Given the description of an element on the screen output the (x, y) to click on. 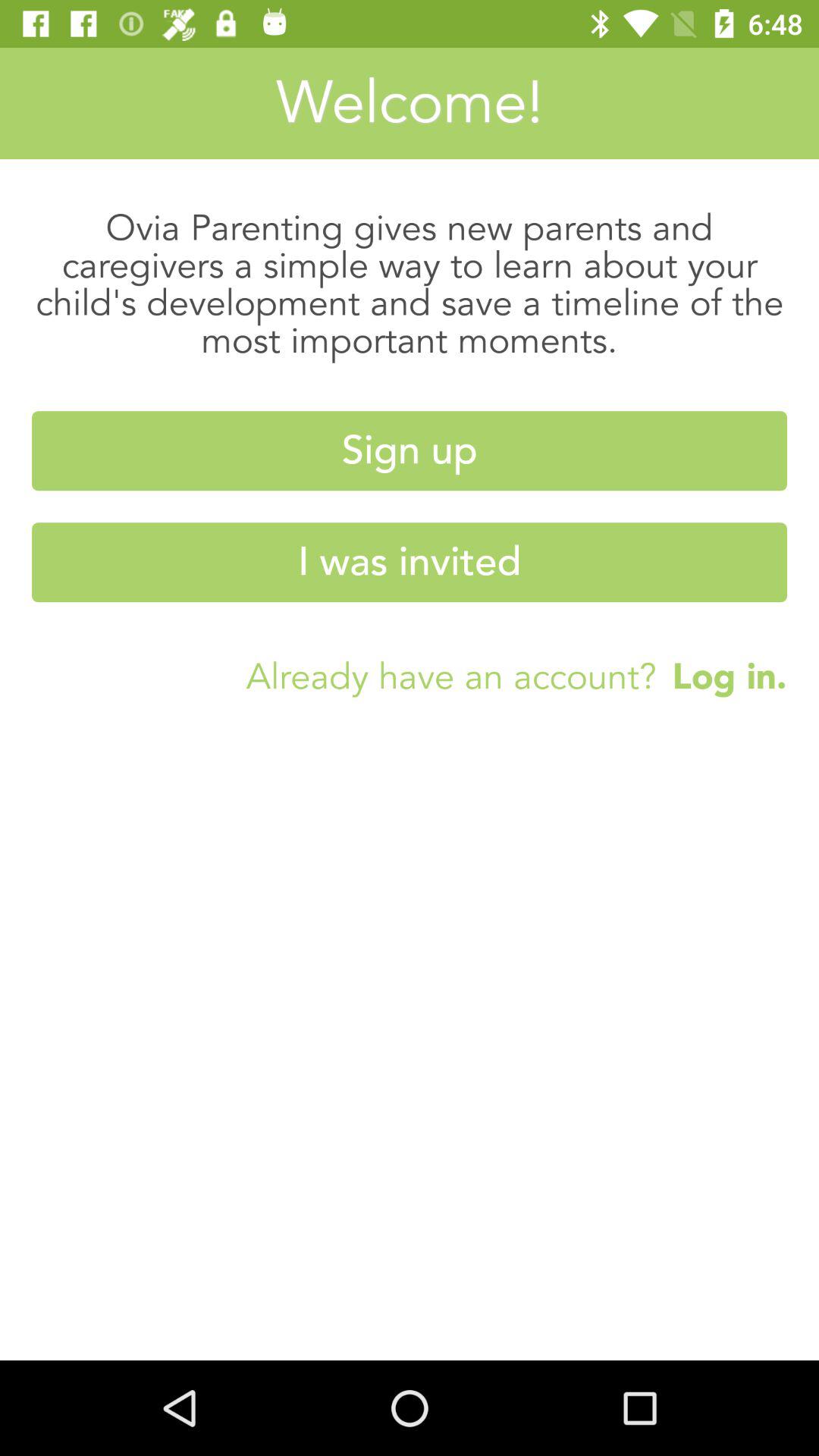
open icon above ovia parenting gives icon (409, 103)
